Given the description of an element on the screen output the (x, y) to click on. 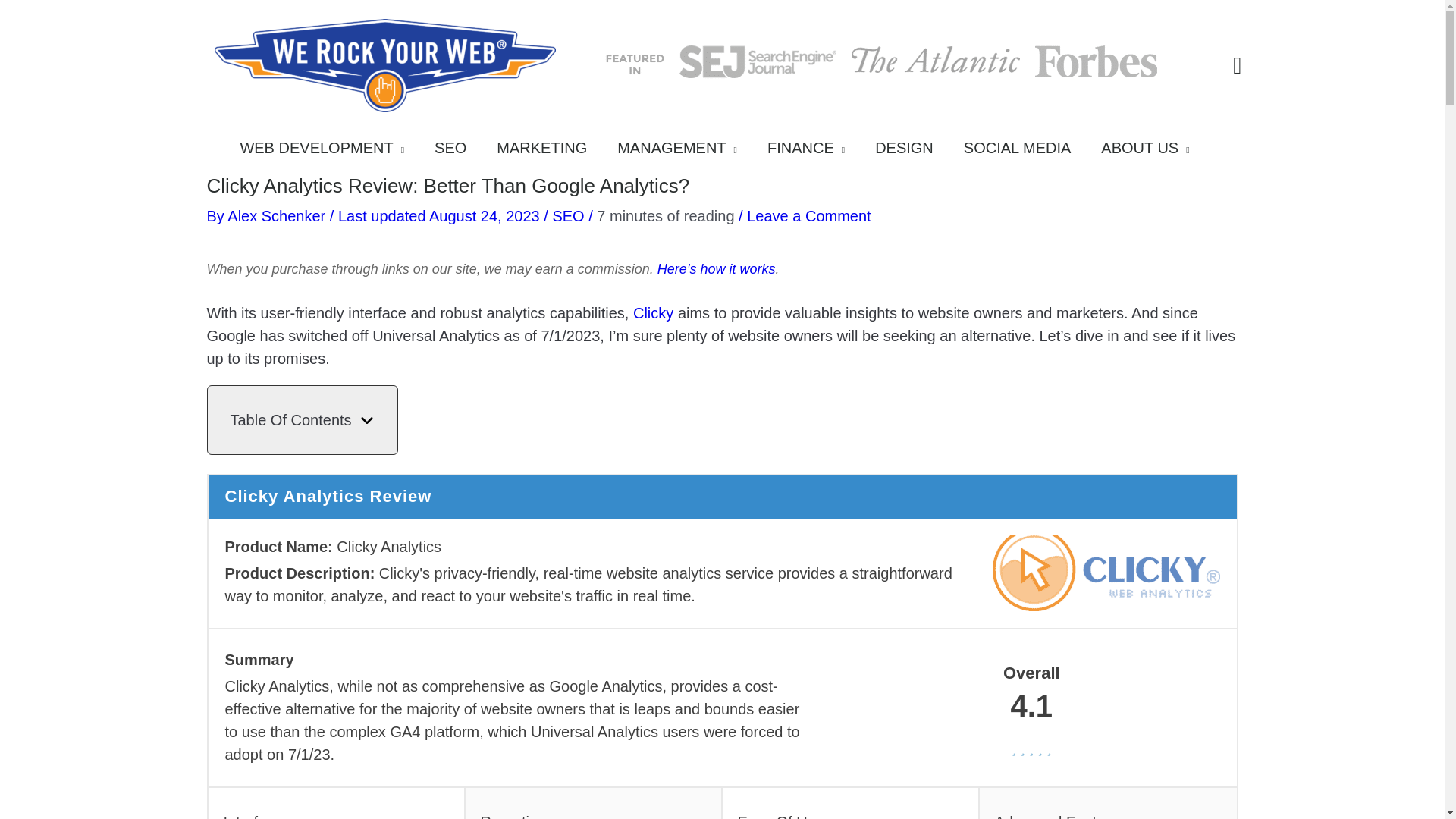
SOCIAL MEDIA (1025, 151)
View all posts by Alex Schenker (278, 216)
MANAGEMENT (685, 151)
WEB DEVELOPMENT (328, 151)
ABOUT US (1152, 151)
DESIGN (911, 151)
FINANCE (813, 151)
MARKETING (549, 151)
SEO (457, 151)
